Given the description of an element on the screen output the (x, y) to click on. 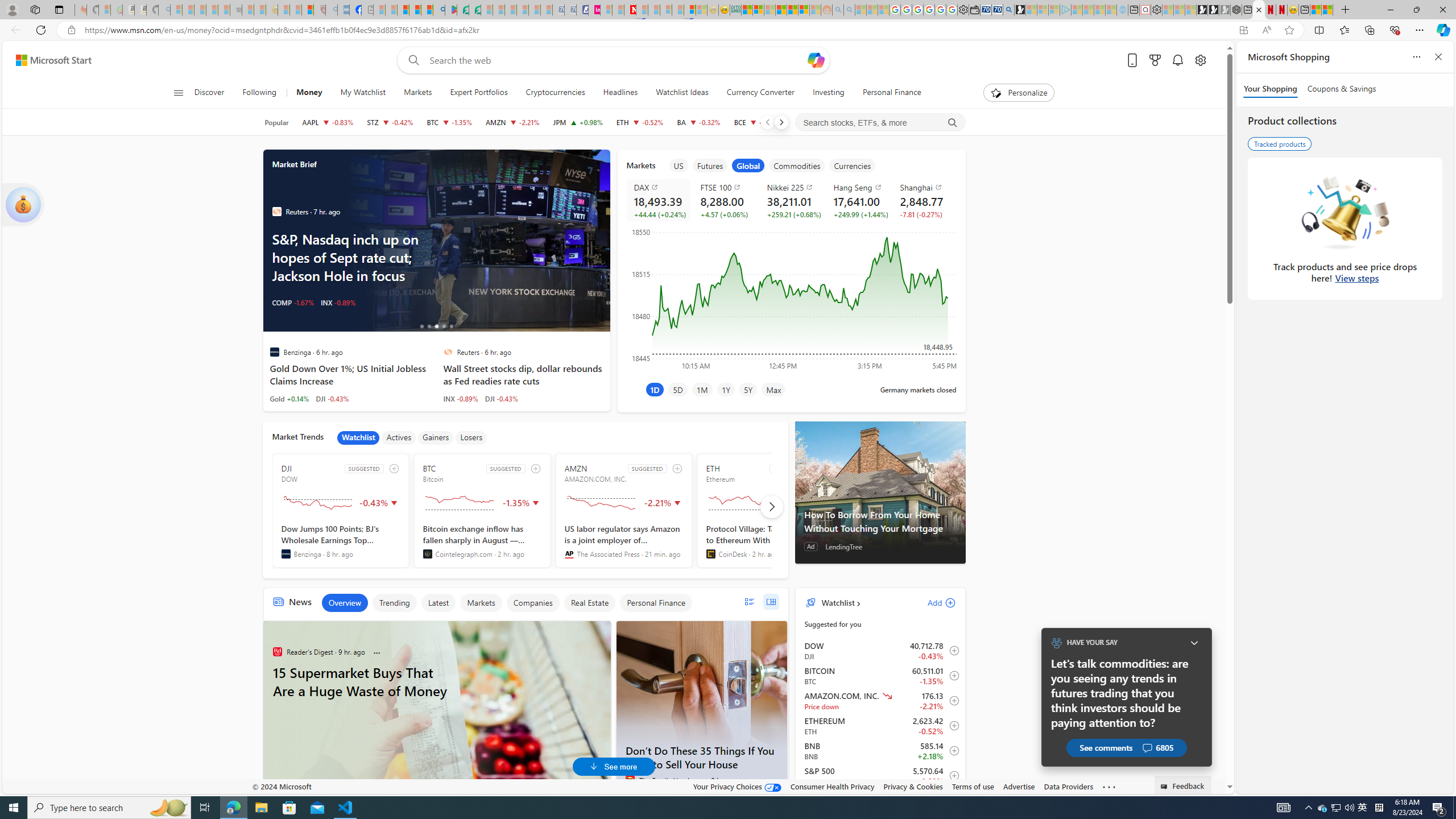
NCL Adult Asthma Inhaler Choice Guideline - Sleeping (343, 9)
Local - MSN (307, 9)
DAX (660, 187)
Trending (393, 602)
Headlines (619, 92)
Wildlife - MSN (1315, 9)
The Weather Channel - MSN - Sleeping (200, 9)
Money (308, 92)
Nordace - Nordace Siena Is Not An Ordinary Backpack (1235, 9)
